Given the description of an element on the screen output the (x, y) to click on. 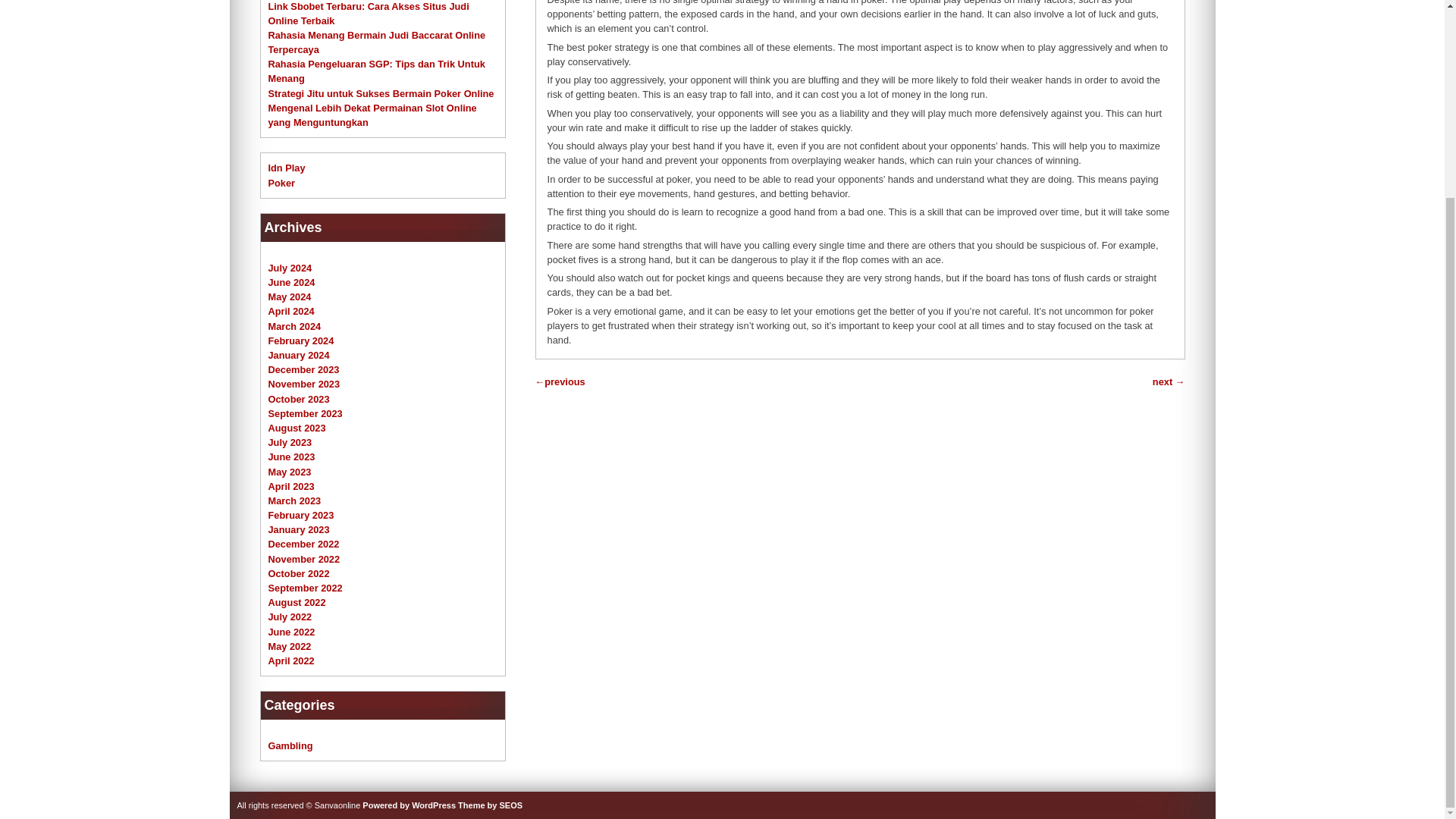
February 2024 (300, 340)
August 2022 (296, 602)
Rahasia Pengeluaran SGP: Tips dan Trik Untuk Menang (375, 71)
October 2023 (298, 398)
November 2022 (303, 559)
November 2023 (303, 383)
February 2023 (300, 514)
January 2024 (298, 355)
April 2023 (290, 486)
March 2024 (294, 326)
July 2024 (290, 267)
May 2024 (289, 296)
October 2022 (298, 573)
July 2023 (290, 441)
